Given the description of an element on the screen output the (x, y) to click on. 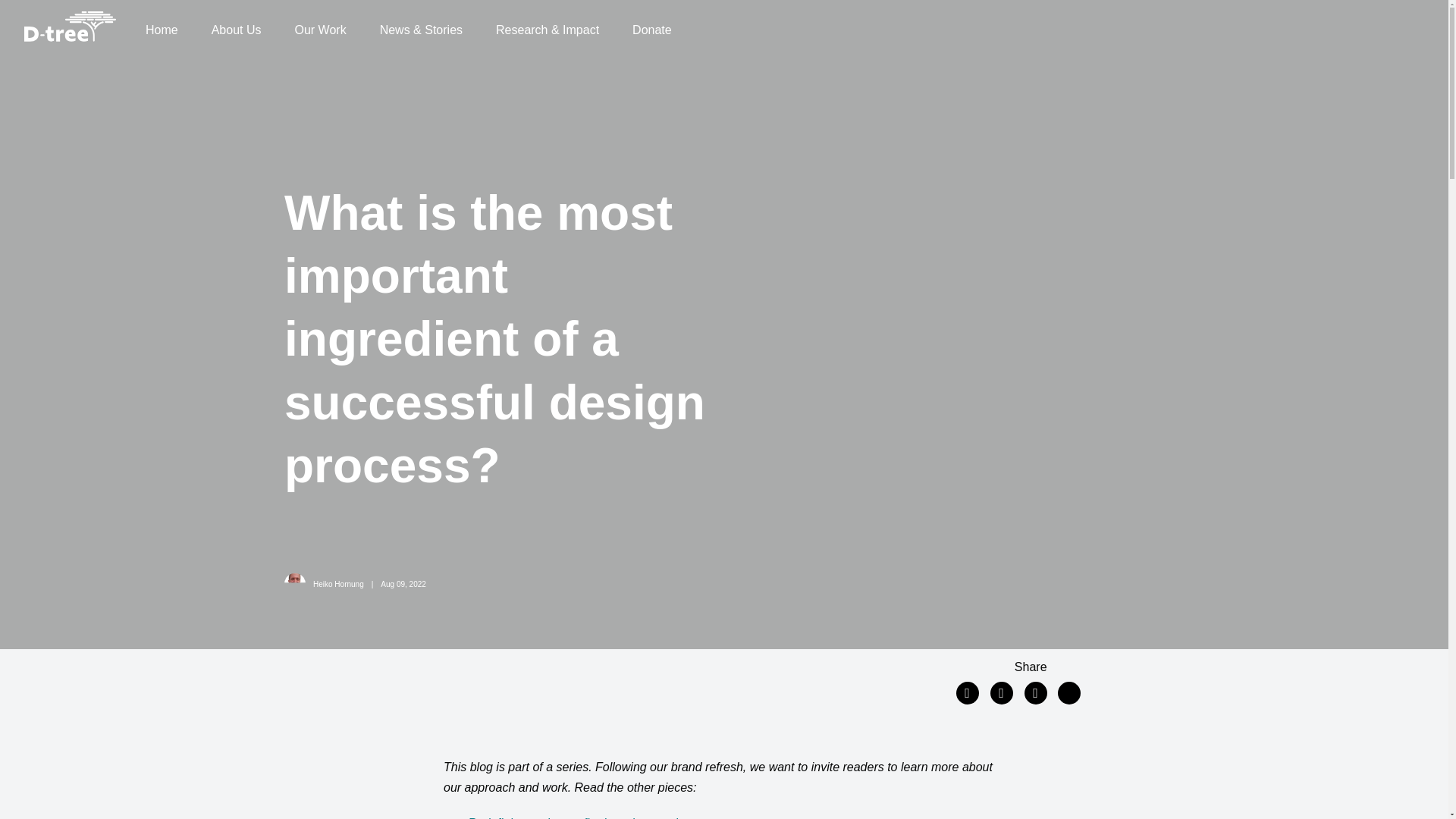
About Us (236, 30)
Our Work (320, 30)
Donate (651, 30)
Home (162, 30)
Redefining and reconfirming what we do (575, 817)
